Given the description of an element on the screen output the (x, y) to click on. 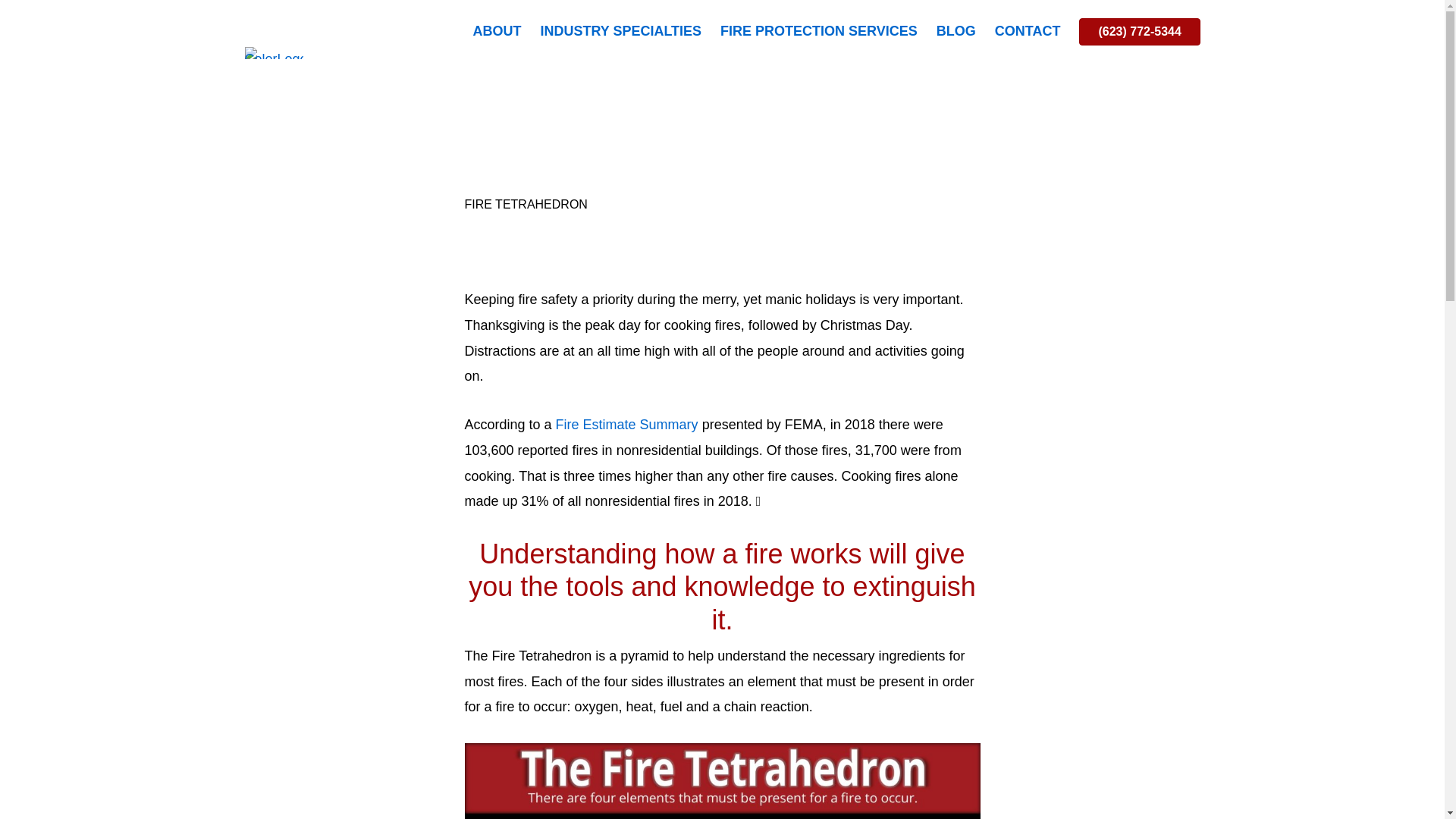
INDUSTRY SPECIALTIES (619, 31)
FIRE PROTECTION SERVICES (818, 31)
ColorLogo (273, 52)
BLOG (956, 31)
ABOUT (496, 31)
The Fire Tetrahedron (721, 780)
Fire Estimate Summary (627, 424)
CONTACT (1027, 31)
